Given the description of an element on the screen output the (x, y) to click on. 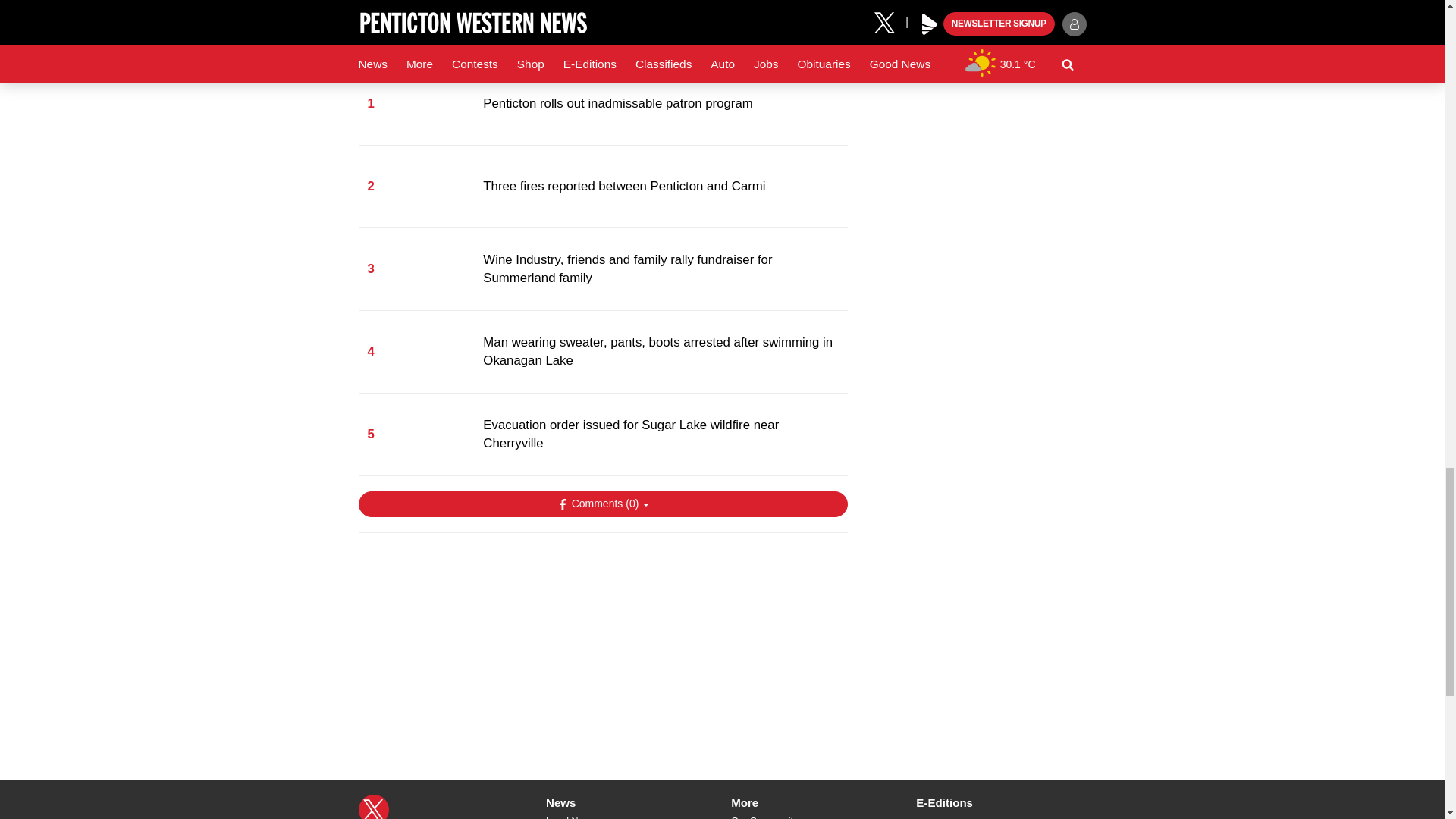
Show Comments (602, 503)
X (373, 806)
3rd party ad content (602, 642)
